Given the description of an element on the screen output the (x, y) to click on. 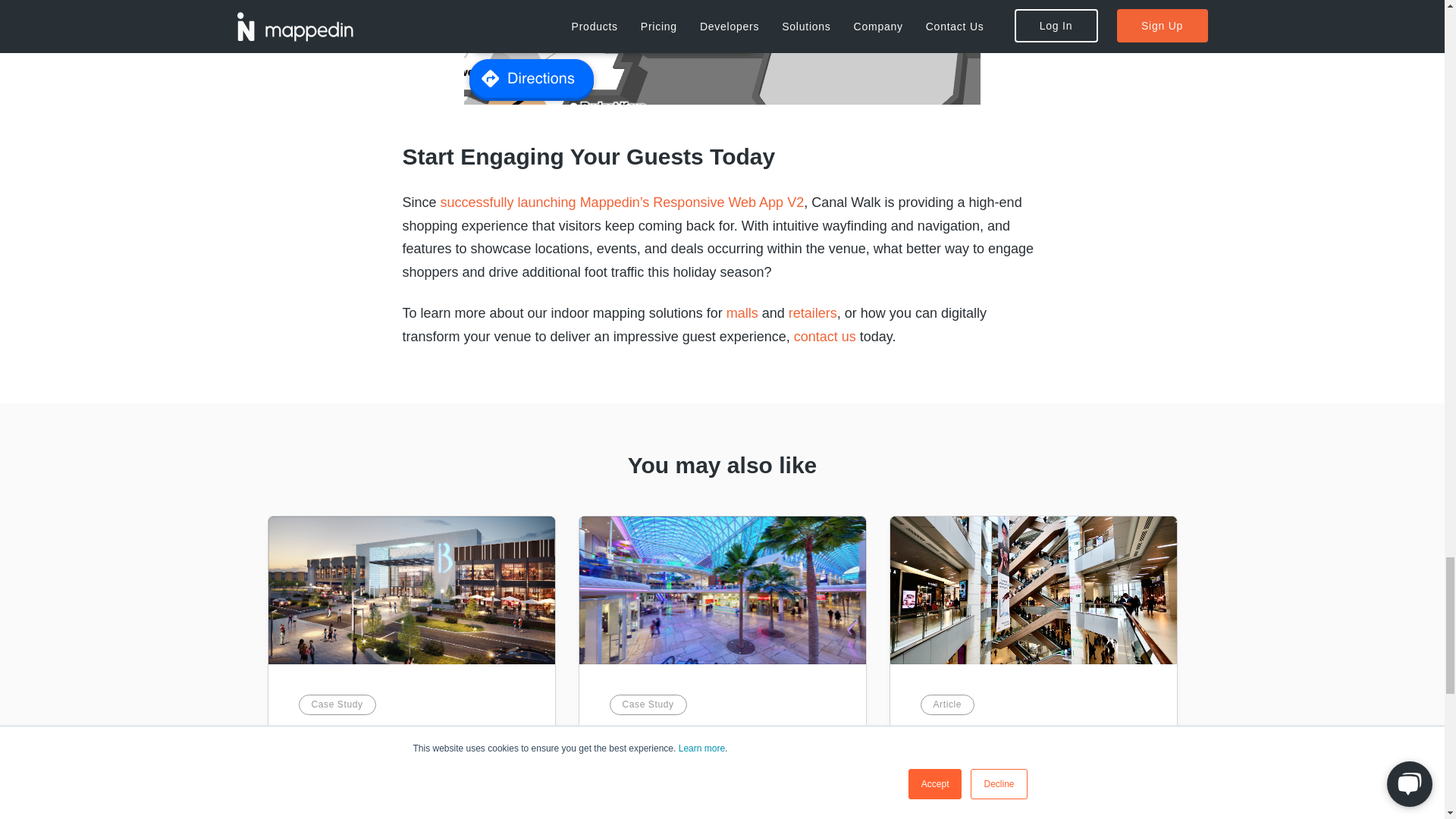
malls (742, 313)
retailers (813, 313)
contact us (824, 336)
